Given the description of an element on the screen output the (x, y) to click on. 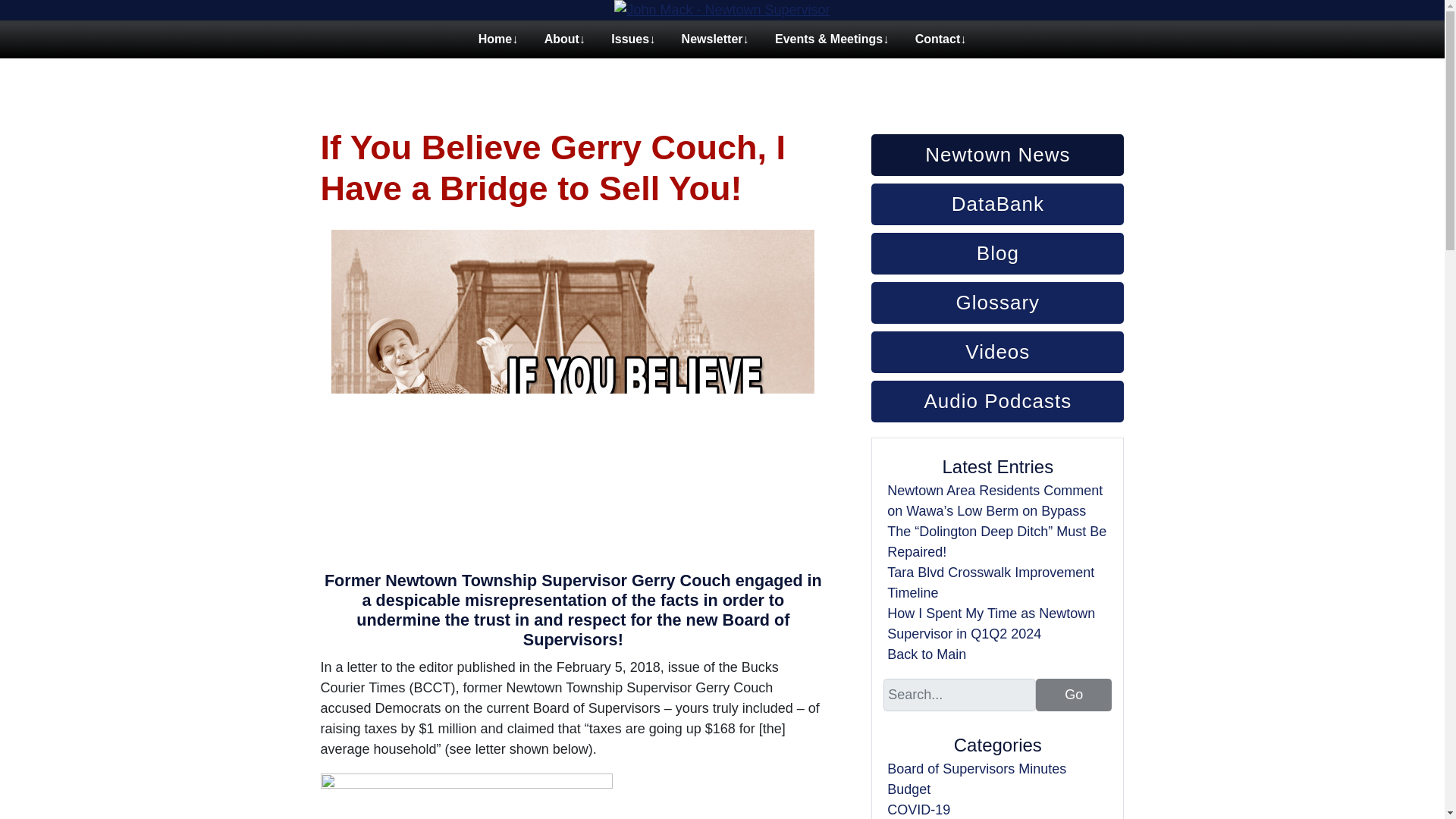
Home (494, 46)
About (561, 46)
If You Believe Gerry Couch, I Have a Bridge to Sell You! (553, 167)
Contact (938, 46)
Newsletter (711, 46)
Go (1073, 694)
Issues (630, 46)
